Given the description of an element on the screen output the (x, y) to click on. 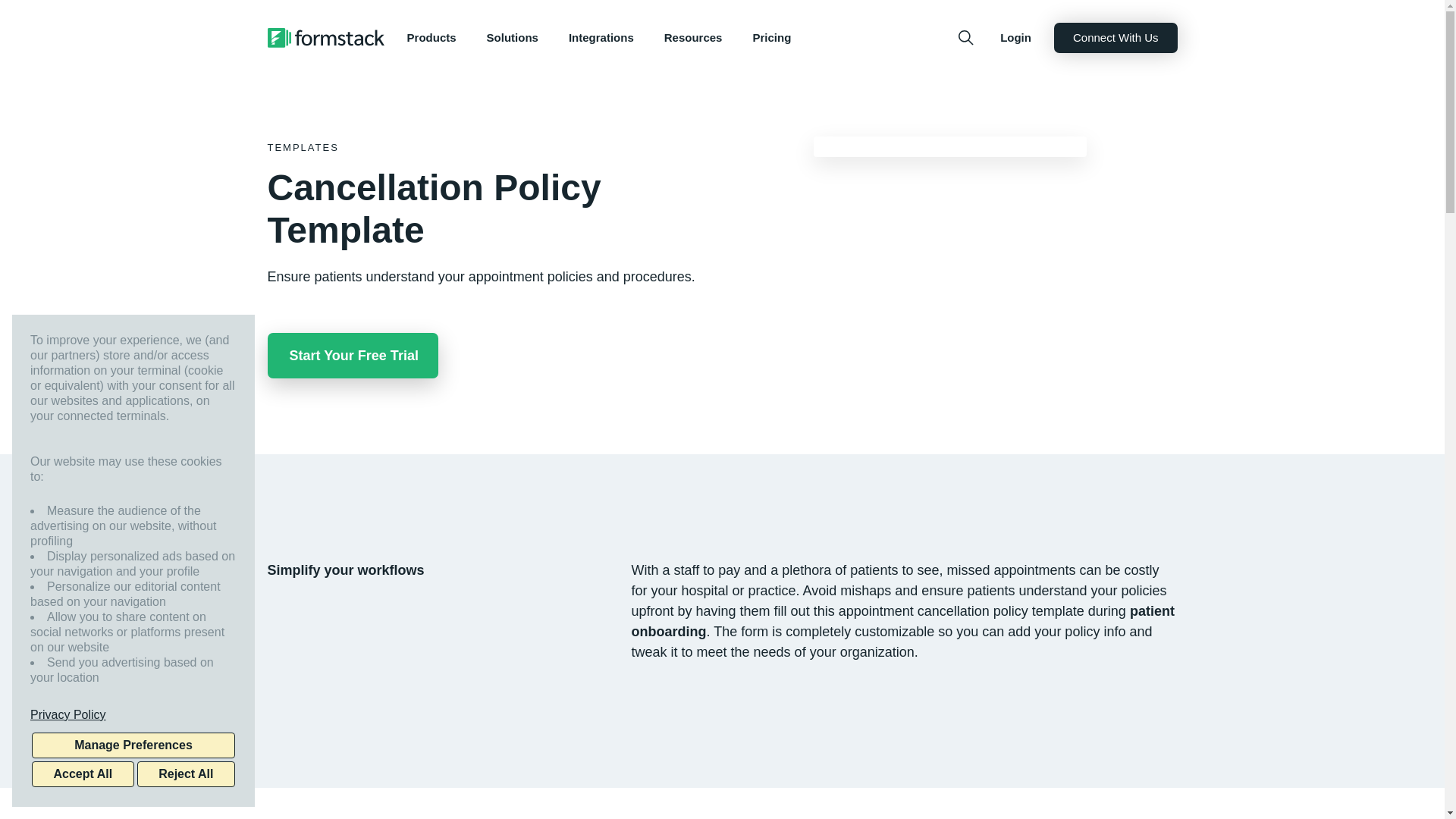
Products (431, 37)
Accept All (82, 774)
Manage Preferences (133, 745)
Privacy Policy (132, 714)
Solutions (512, 37)
Reject All (185, 774)
Integrations (601, 37)
